Given the description of an element on the screen output the (x, y) to click on. 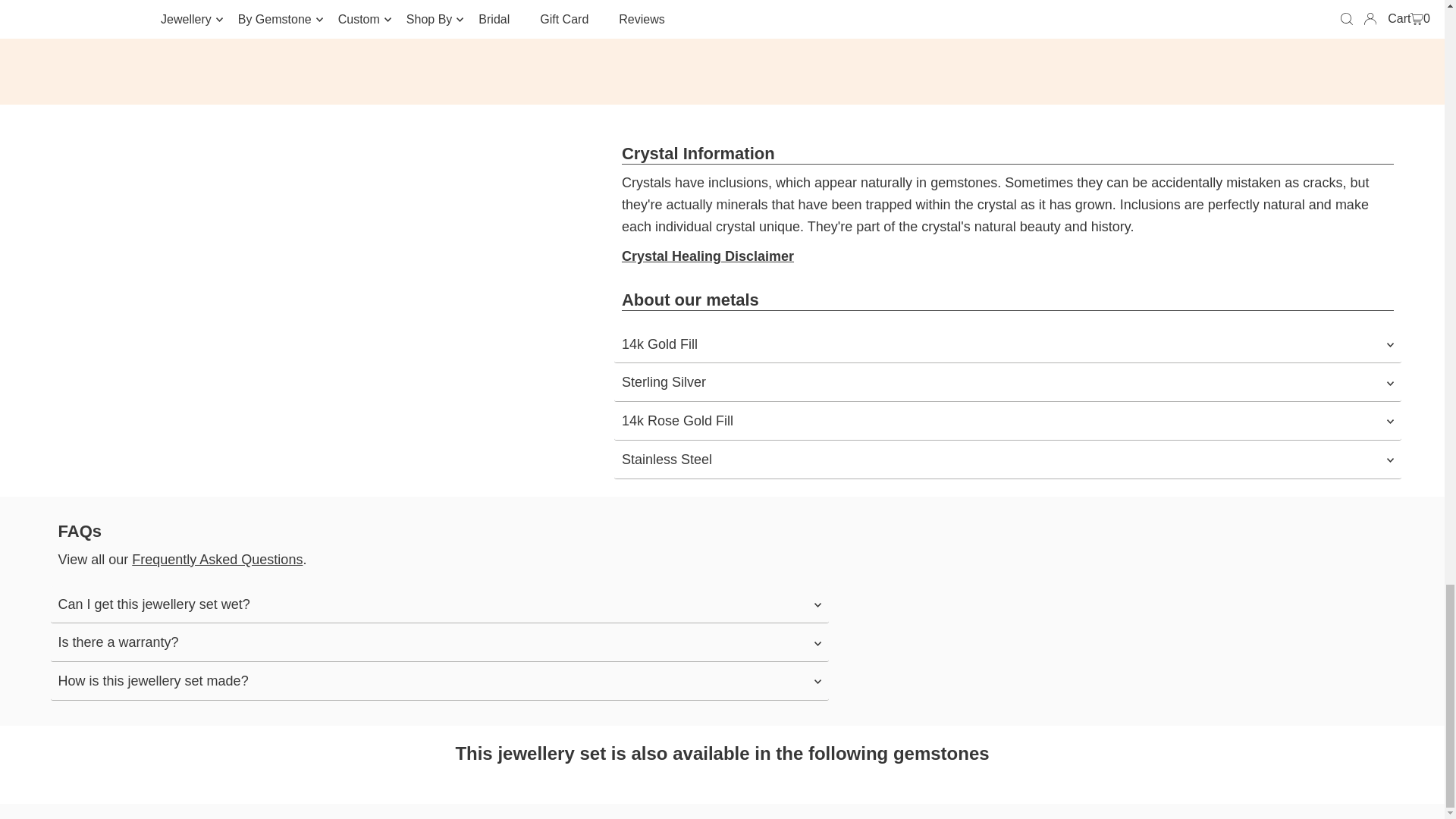
FAQ (217, 559)
